Given the description of an element on the screen output the (x, y) to click on. 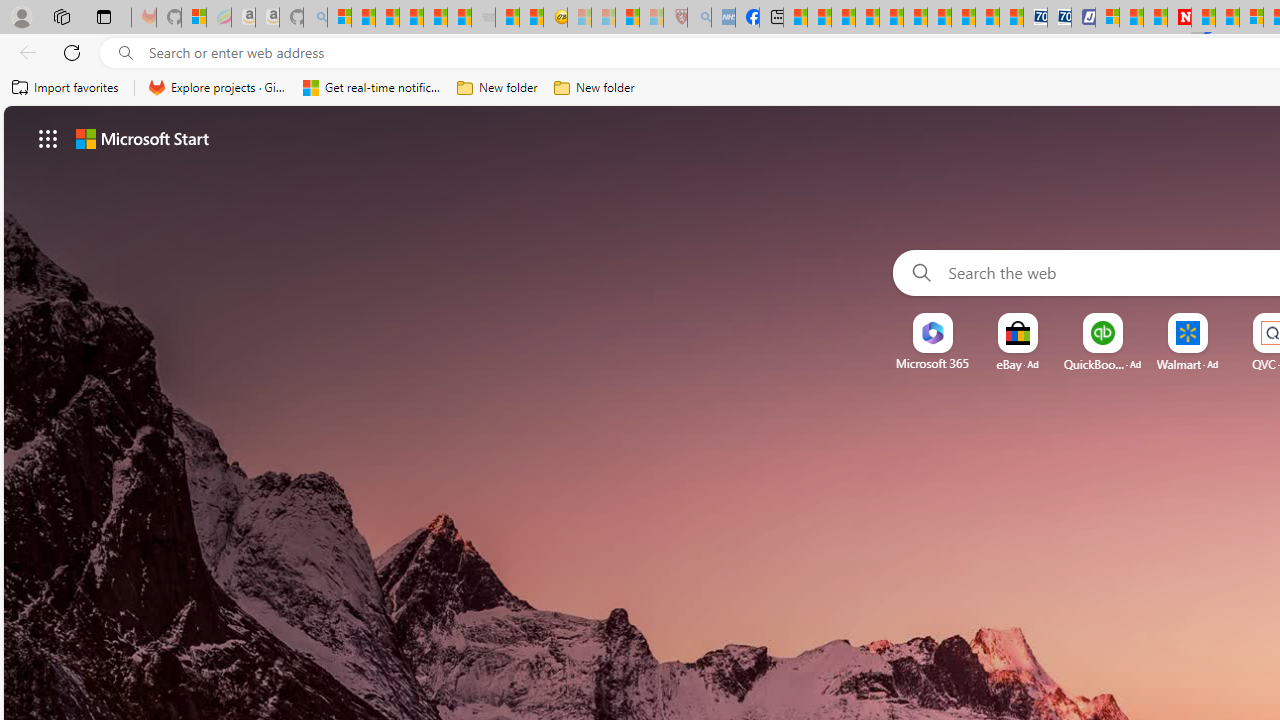
Microsoft start (142, 138)
NCL Adult Asthma Inhaler Choice Guideline - Sleeping (722, 17)
MSNBC - MSN (795, 17)
Import favorites (65, 88)
World - MSN (843, 17)
list of asthma inhalers uk - Search - Sleeping (698, 17)
Climate Damage Becomes Too Severe To Reverse (867, 17)
Cheap Hotels - Save70.com (1059, 17)
Cheap Car Rentals - Save70.com (1035, 17)
12 Popular Science Lies that Must be Corrected - Sleeping (651, 17)
